Given the description of an element on the screen output the (x, y) to click on. 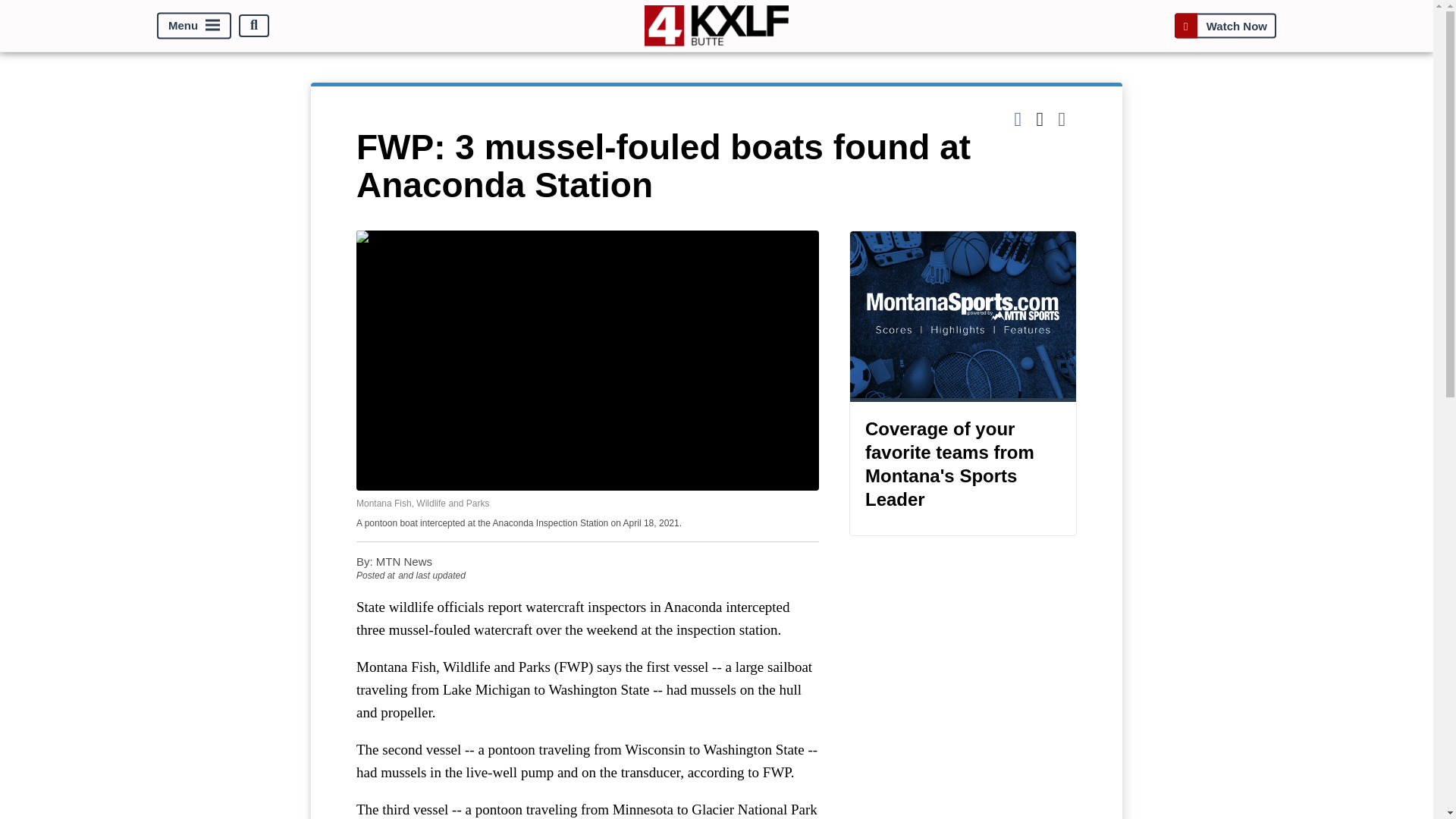
Watch Now (1224, 24)
Menu (194, 25)
